Given the description of an element on the screen output the (x, y) to click on. 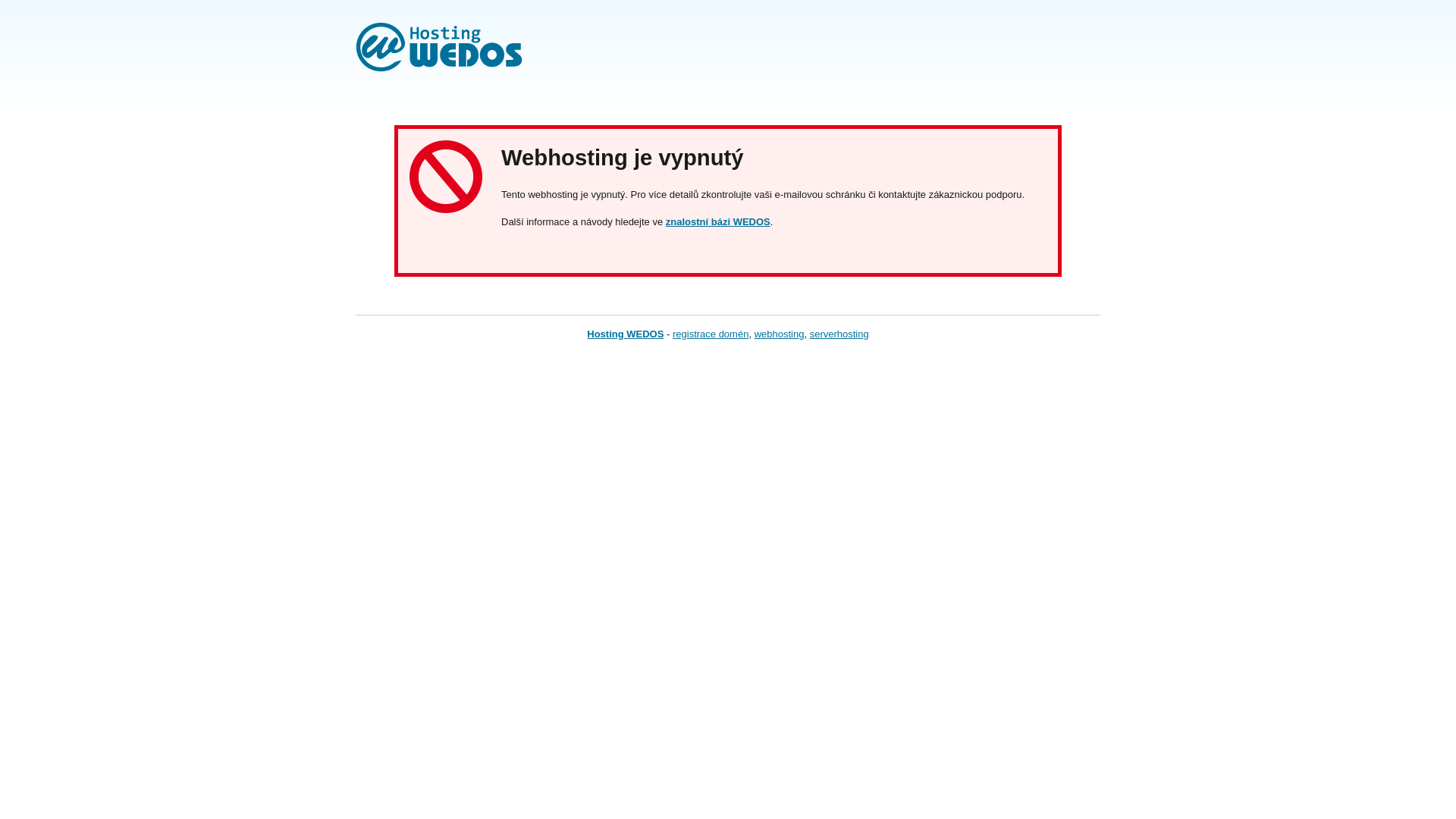
serverhosting Element type: text (839, 333)
Hosting WEDOS Element type: text (624, 333)
webhosting Element type: text (779, 333)
